Given the description of an element on the screen output the (x, y) to click on. 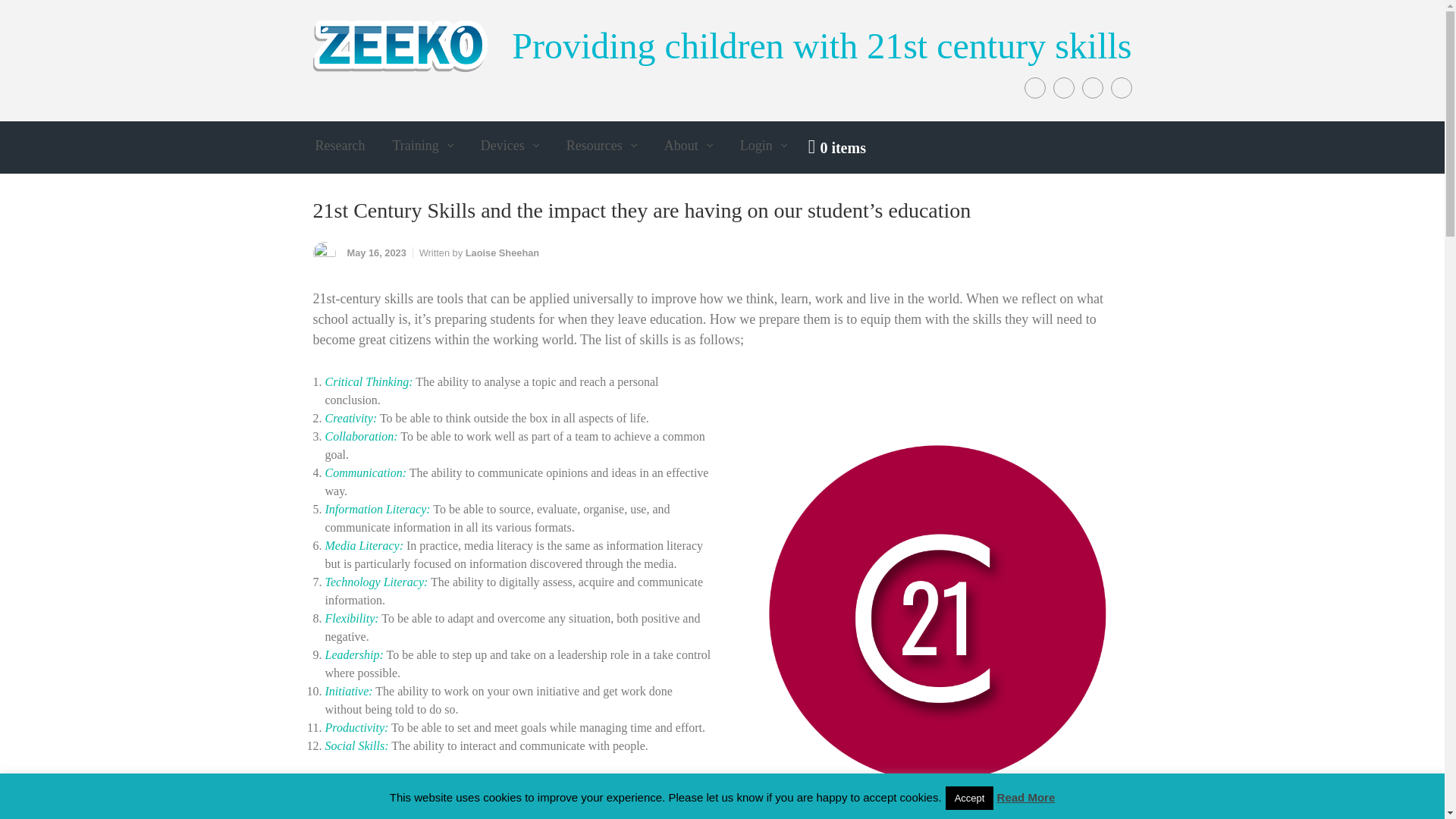
Skip to main content (18, 10)
Start shopping (837, 146)
Research (339, 145)
Training (421, 145)
Resources (601, 145)
View all posts by Laoise Sheehan (501, 252)
Devices (509, 145)
